Given the description of an element on the screen output the (x, y) to click on. 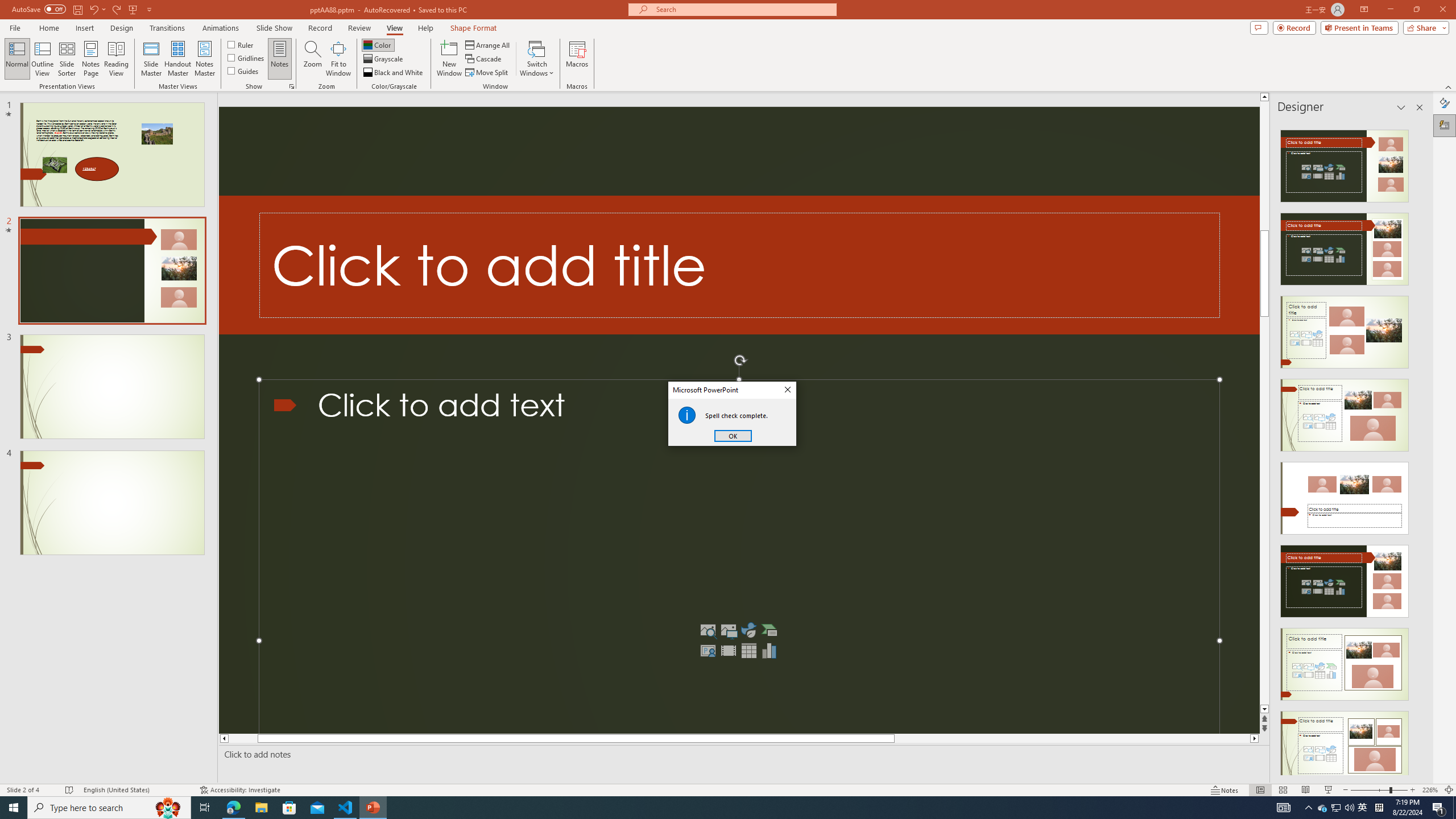
Action Center, 1 new notification (1439, 807)
Notes Master (204, 58)
Zoom... (312, 58)
Arrange All (488, 44)
Insert Video (728, 650)
Black and White (1322, 807)
Insert Cameo (393, 72)
Grid Settings... (707, 650)
